Given the description of an element on the screen output the (x, y) to click on. 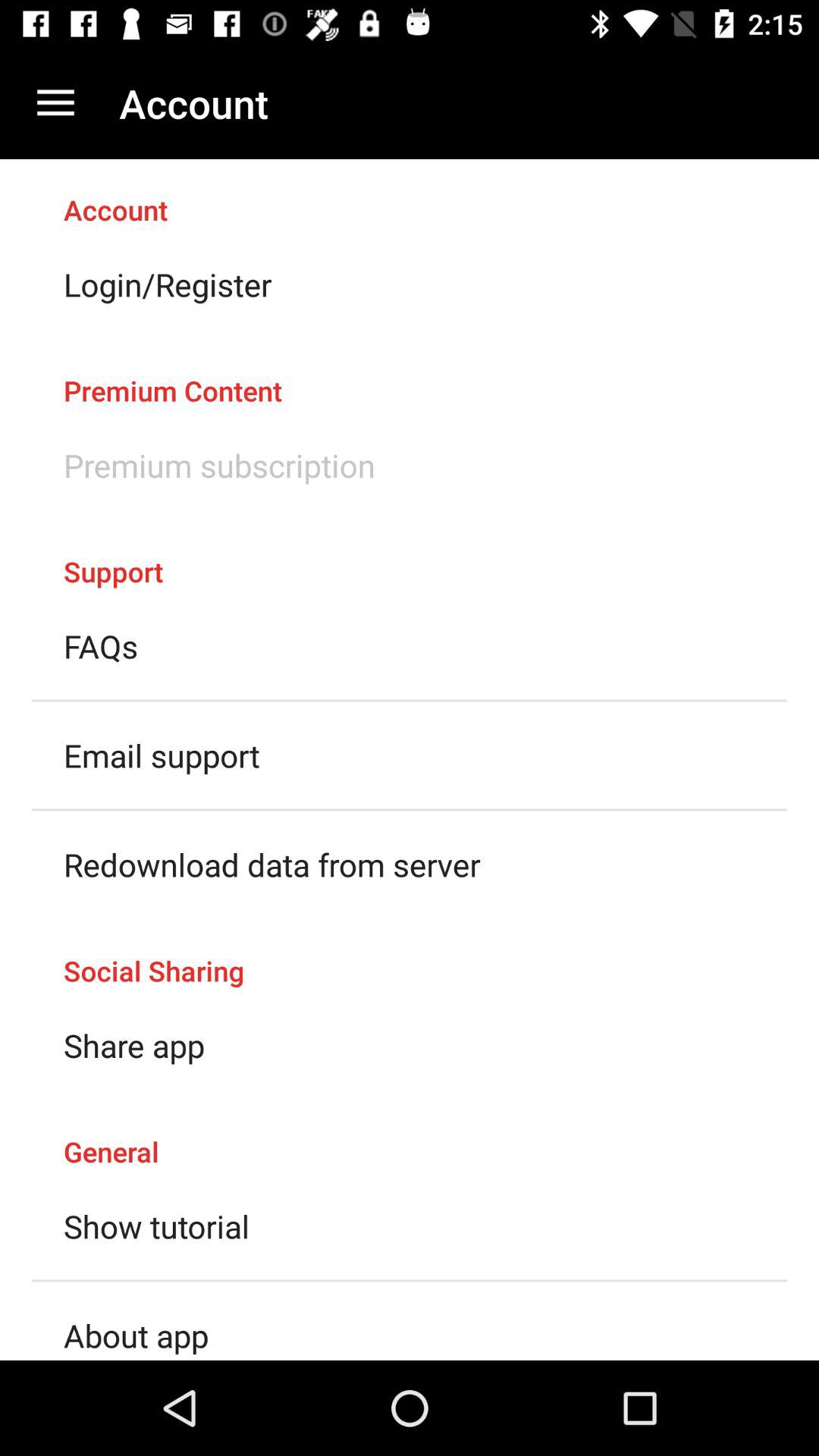
select the item below login/register item (409, 374)
